Given the description of an element on the screen output the (x, y) to click on. 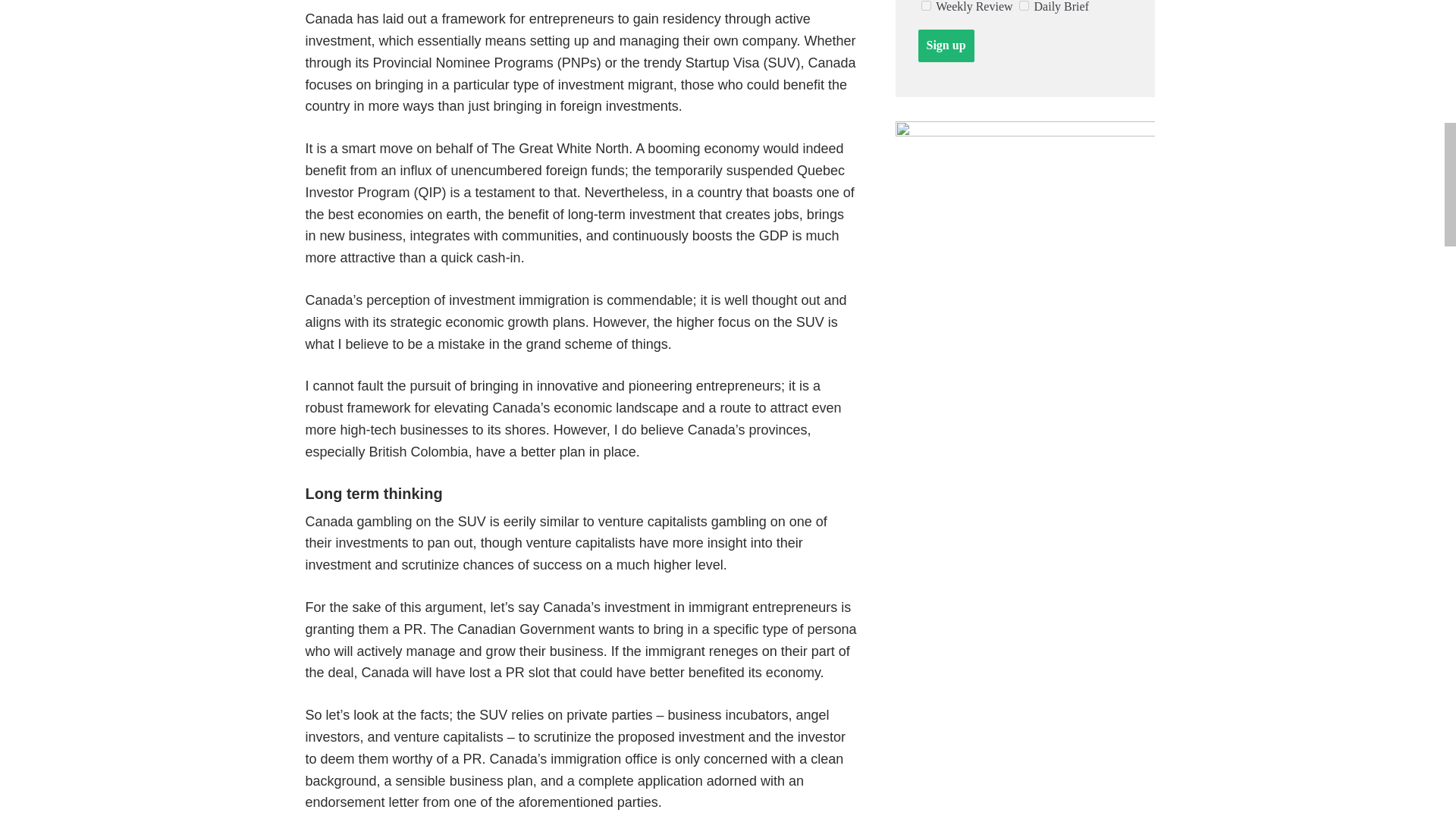
2ad59d2504 (1024, 5)
24b73734dd (925, 5)
Sign up (945, 45)
